Given the description of an element on the screen output the (x, y) to click on. 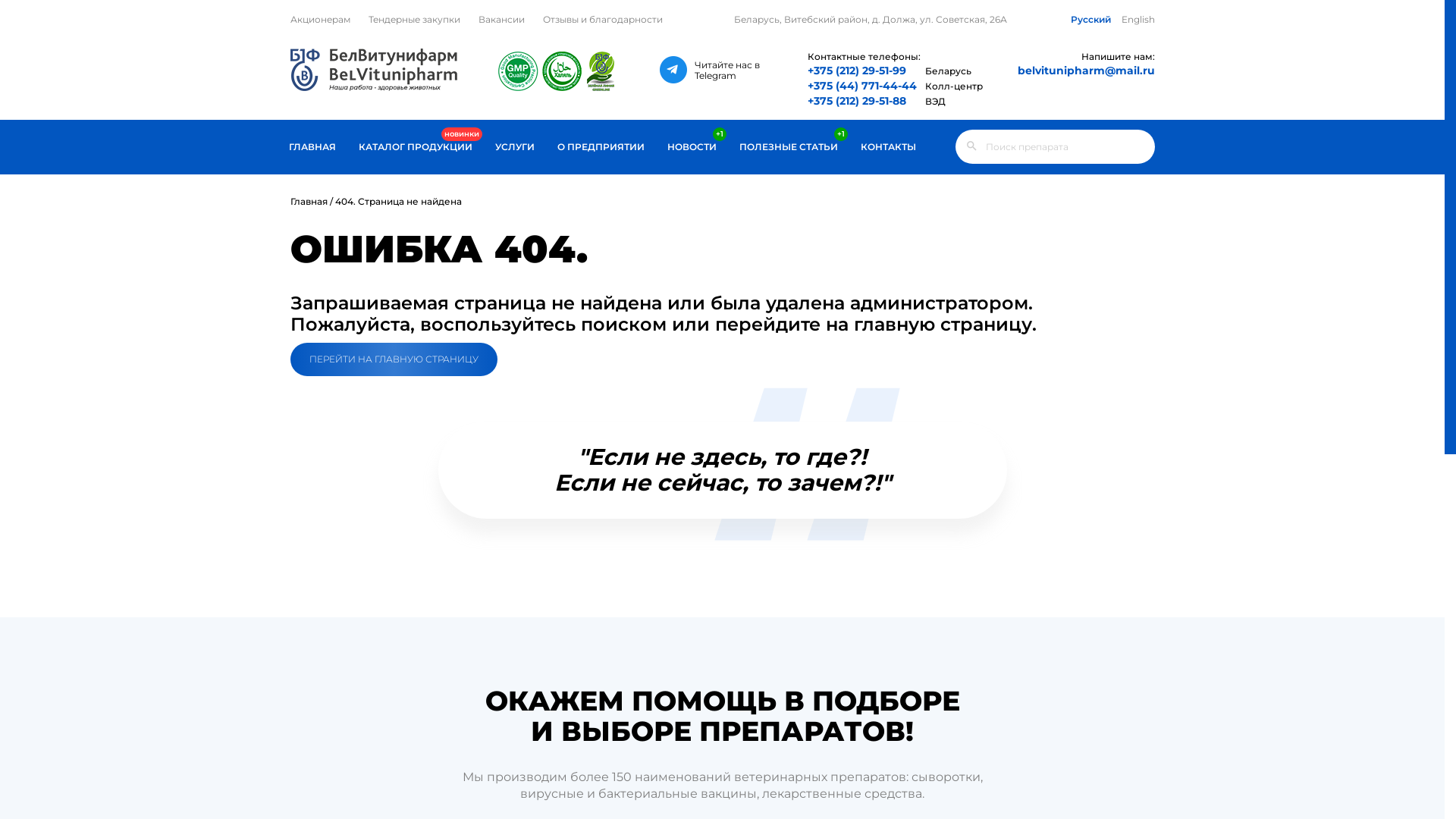
English Element type: text (1137, 19)
belvitunipharm@mail.ru Element type: text (1054, 70)
